Given the description of an element on the screen output the (x, y) to click on. 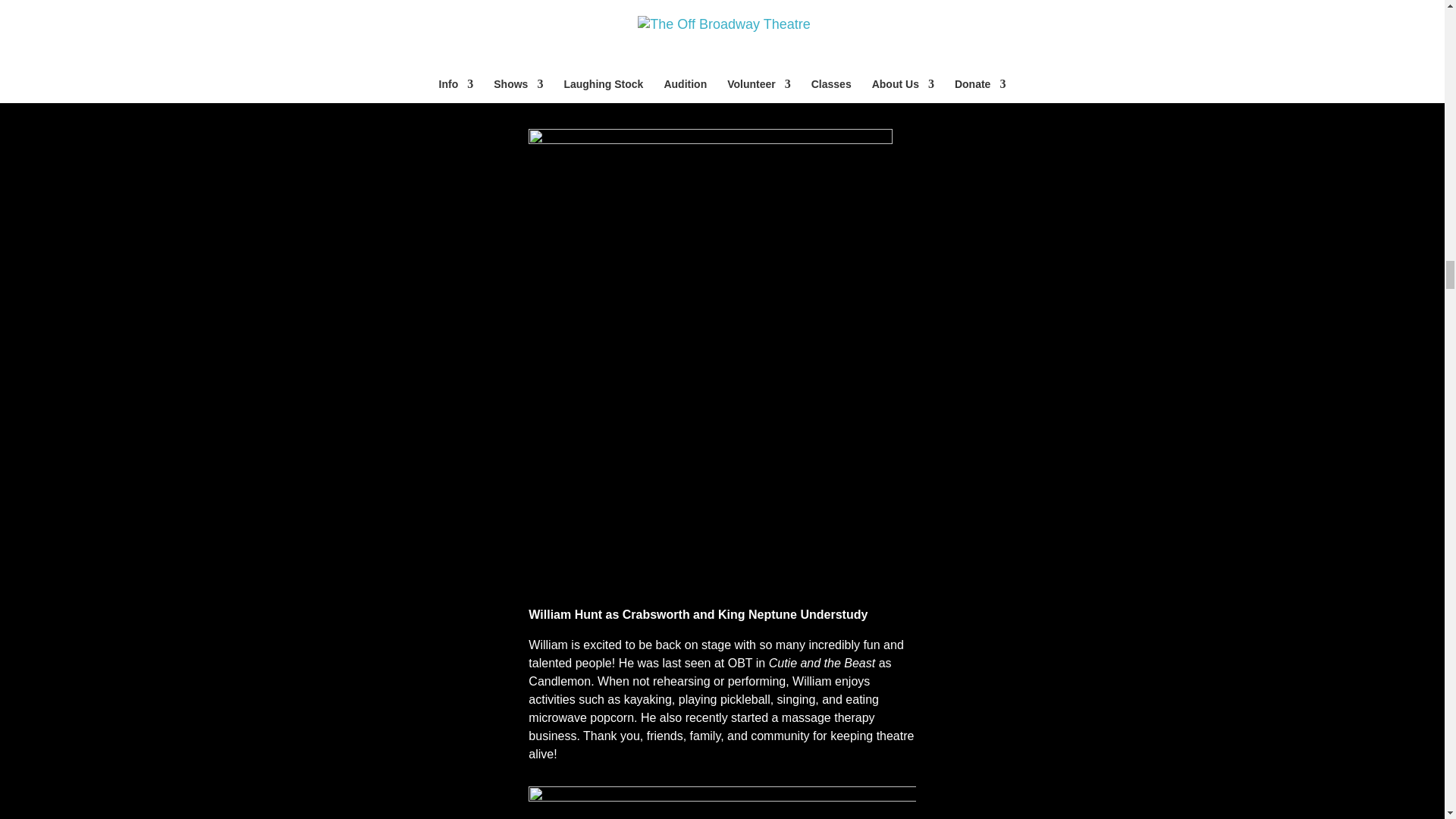
Eric J-web (721, 802)
